Given the description of an element on the screen output the (x, y) to click on. 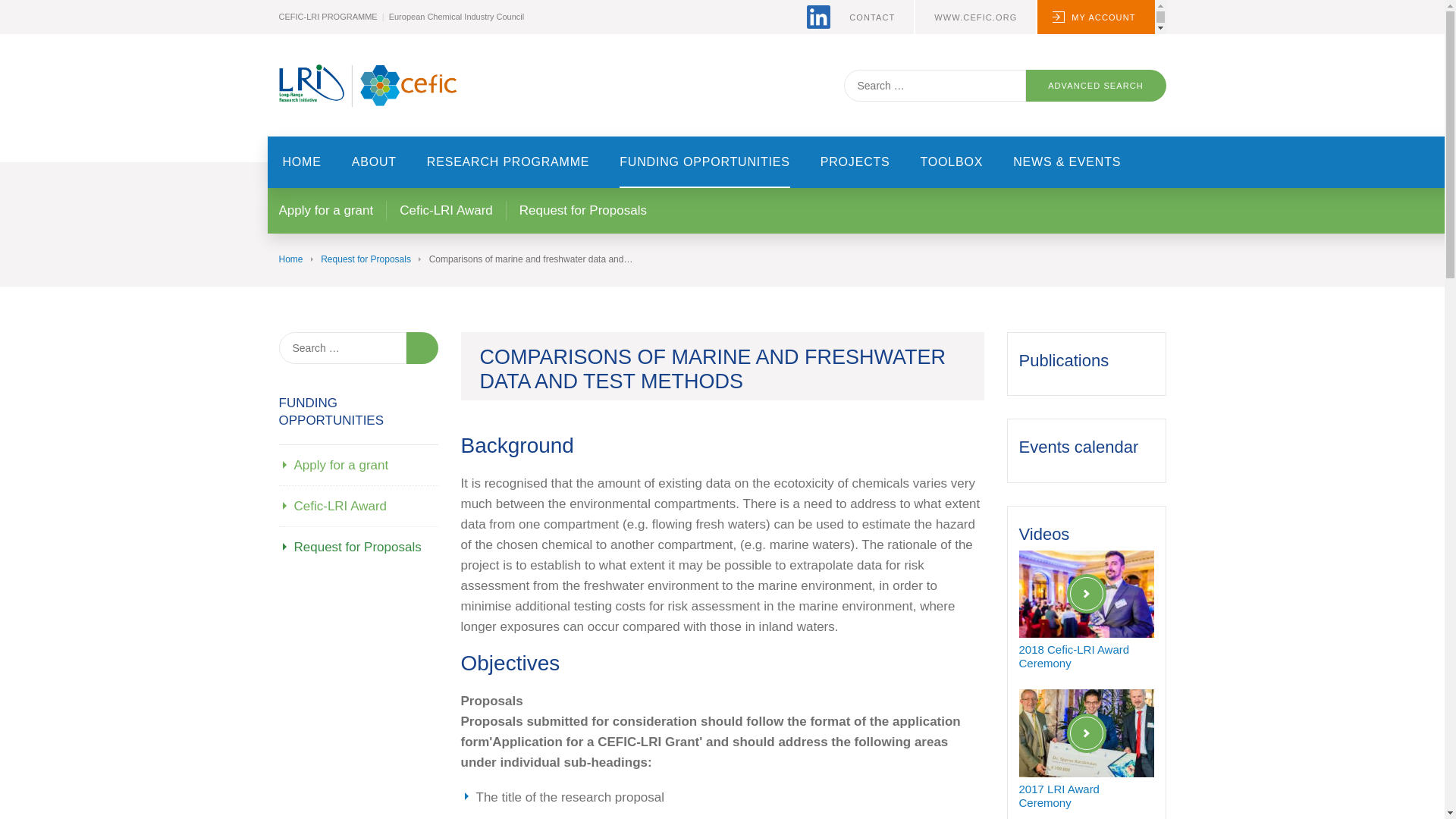
CONTACT (871, 17)
PROJECTS (855, 162)
WWW.CEFIC.ORG (975, 17)
MY ACCOUNT (1095, 17)
TOOLBOX (952, 162)
RESEARCH PROGRAMME (507, 162)
ADVANCED SEARCH (1095, 85)
FUNDING OPPORTUNITIES (705, 162)
